Given the description of an element on the screen output the (x, y) to click on. 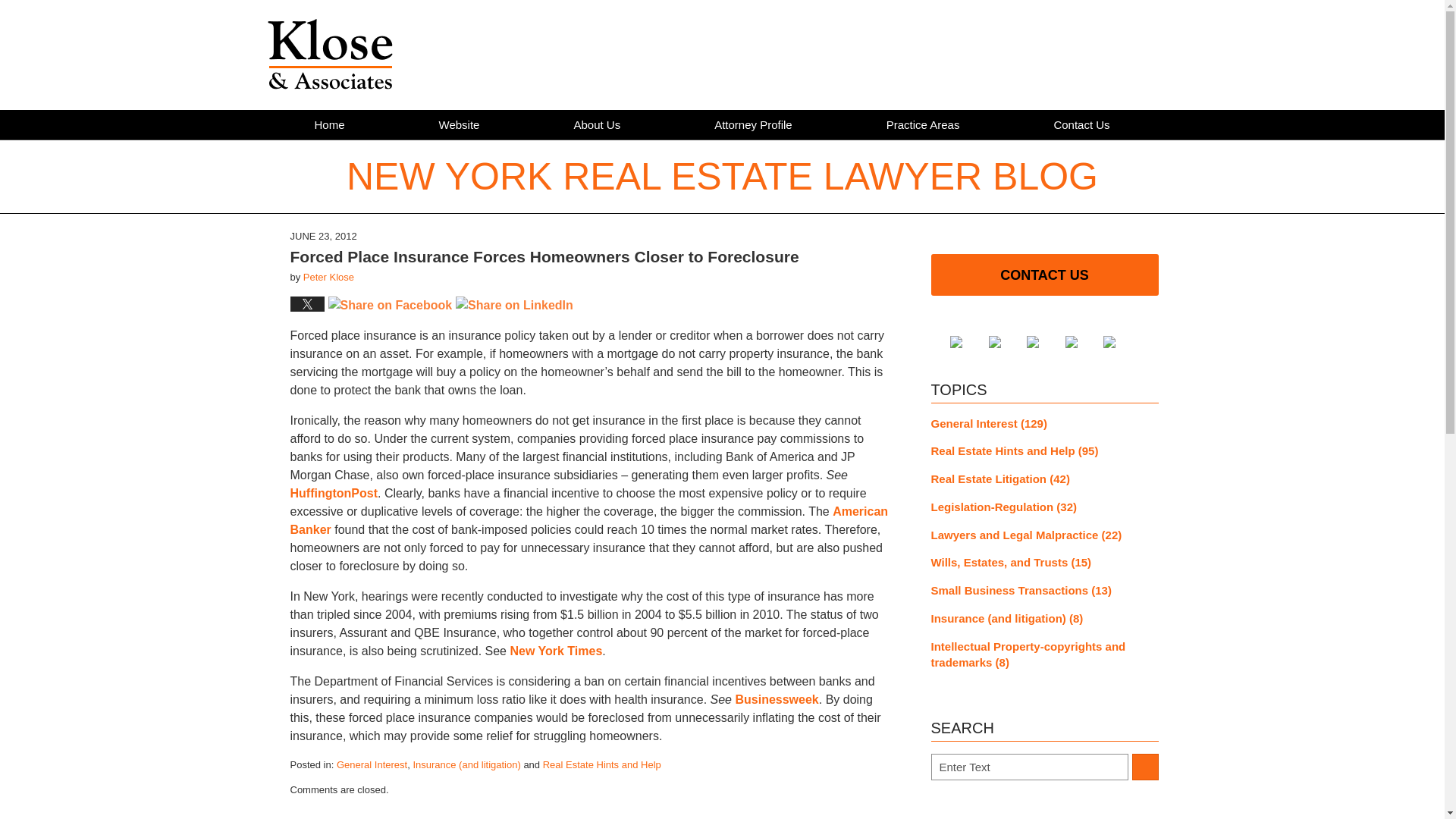
Peter Klose (327, 276)
About Us (595, 124)
American Banker (588, 520)
Contact Us (1081, 124)
Website (459, 124)
Feed (1120, 341)
View all posts in General Interest (371, 764)
Twitter (1006, 341)
Home (328, 124)
Facebook (967, 341)
